Given the description of an element on the screen output the (x, y) to click on. 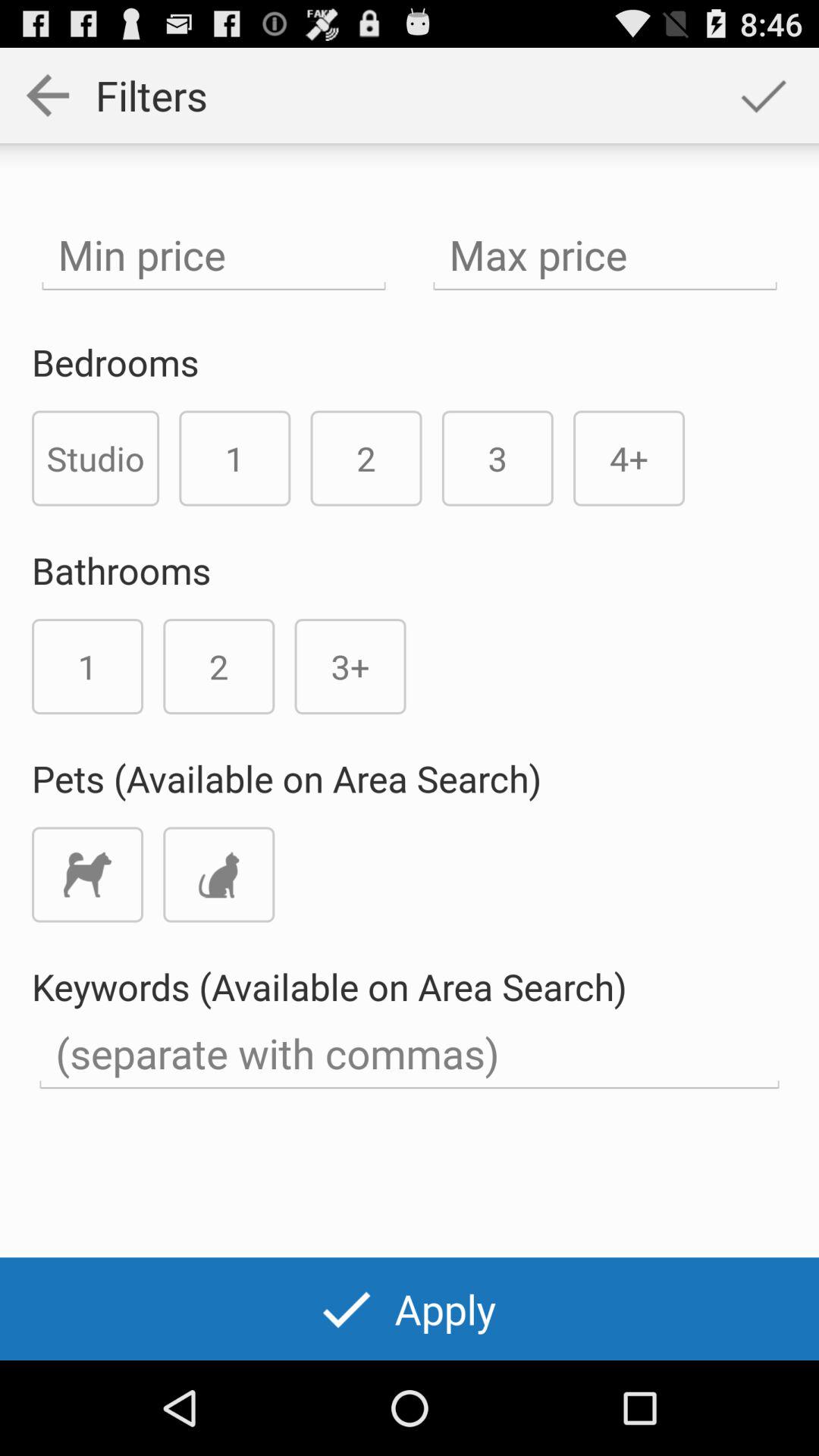
launch app above the bathrooms icon (95, 458)
